Given the description of an element on the screen output the (x, y) to click on. 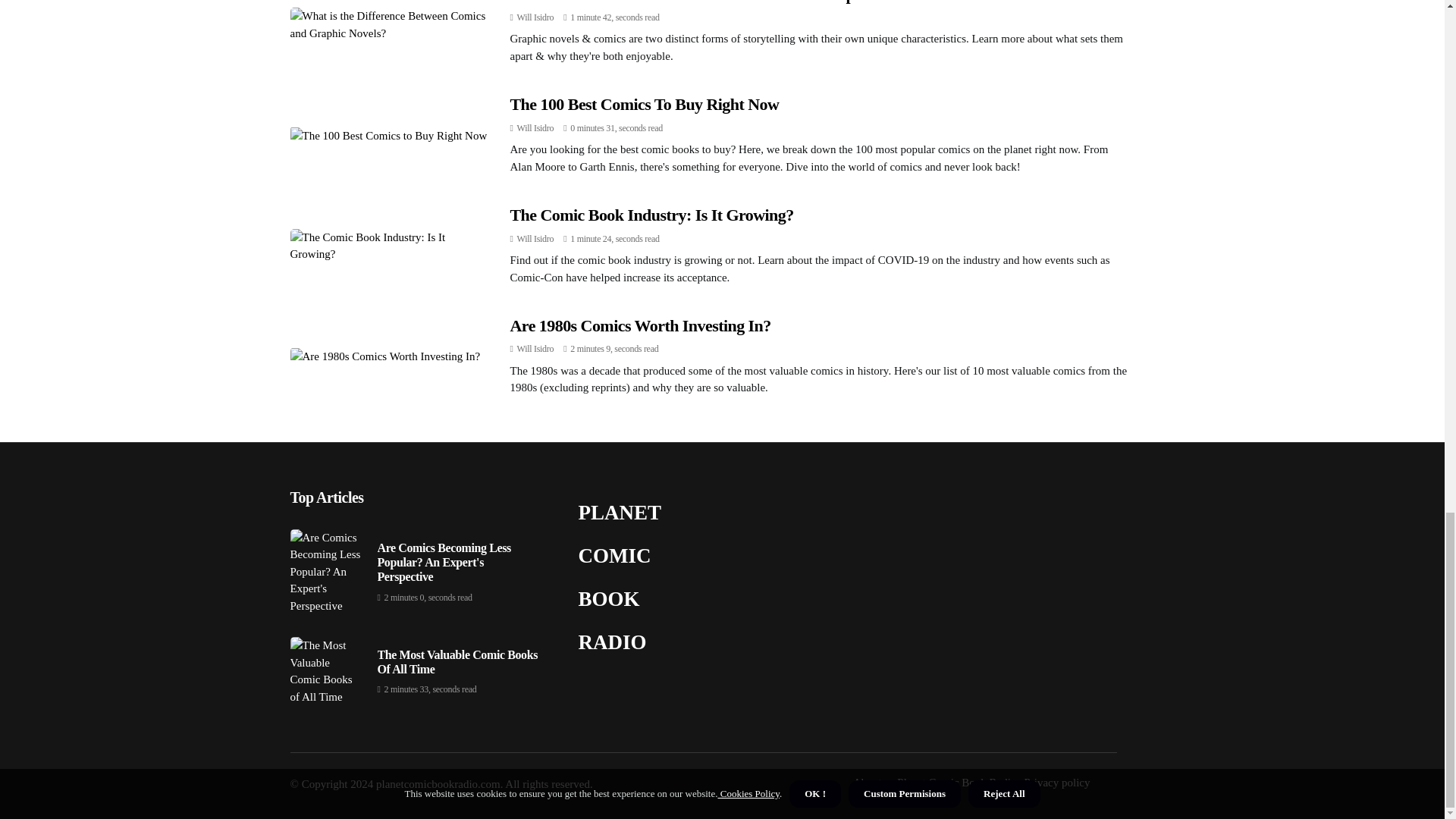
Posts by Will Isidro (535, 17)
Will Isidro (535, 348)
Posts by Will Isidro (535, 127)
Are 1980s Comics Worth Investing In? (639, 325)
Will Isidro (535, 127)
Posts by Will Isidro (535, 238)
Will Isidro (535, 17)
Posts by Will Isidro (535, 348)
The Comic Book Industry: Is It Growing? (651, 214)
The 100 Best Comics To Buy Right Now (643, 104)
Will Isidro (535, 238)
